Given the description of an element on the screen output the (x, y) to click on. 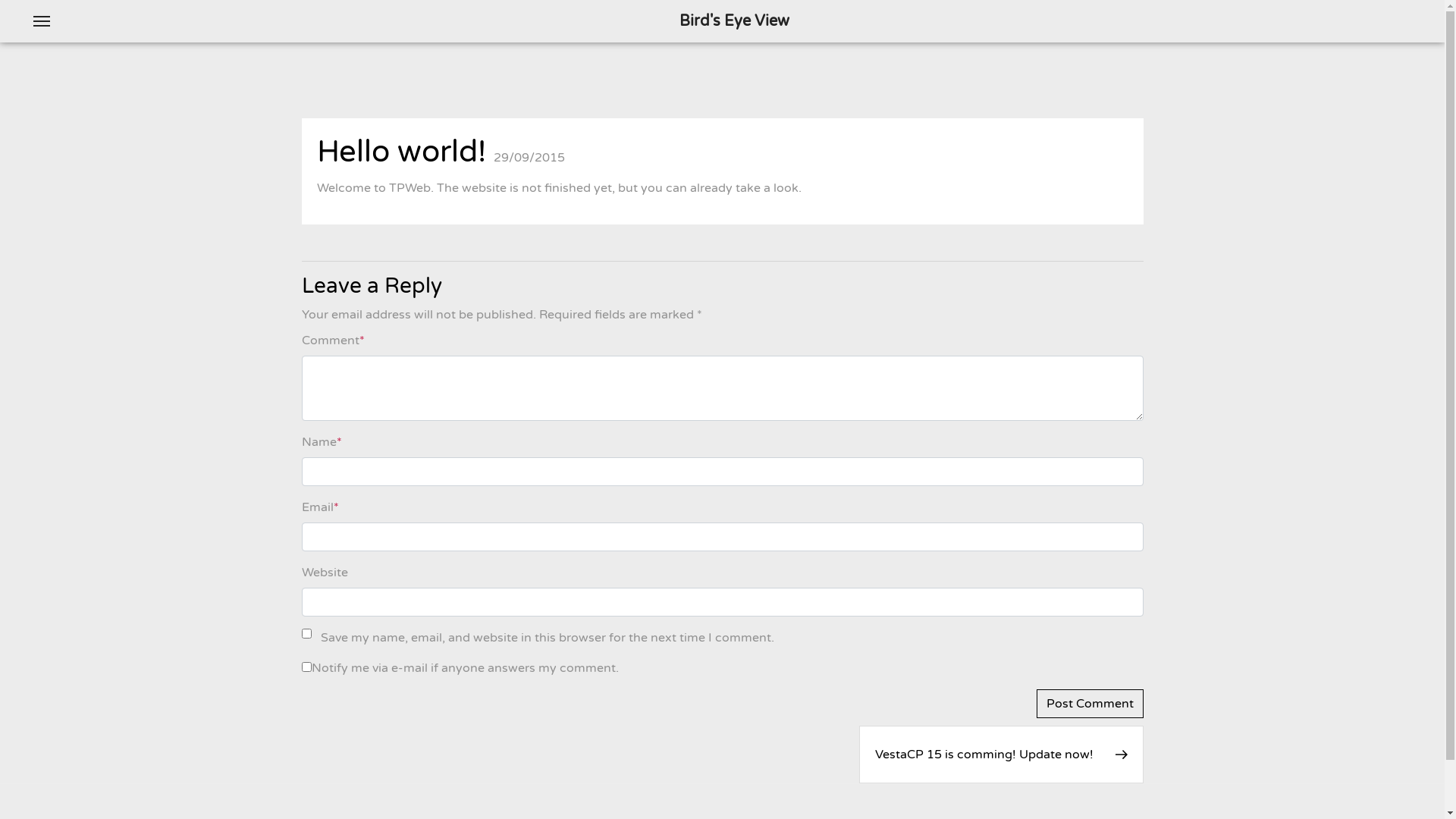
Menu Element type: text (41, 21)
Post Comment Element type: text (1088, 703)
Bird's Eye View Element type: text (734, 21)
Next Post
VestaCP 15 is comming! Update now! Element type: text (1001, 754)
